Given the description of an element on the screen output the (x, y) to click on. 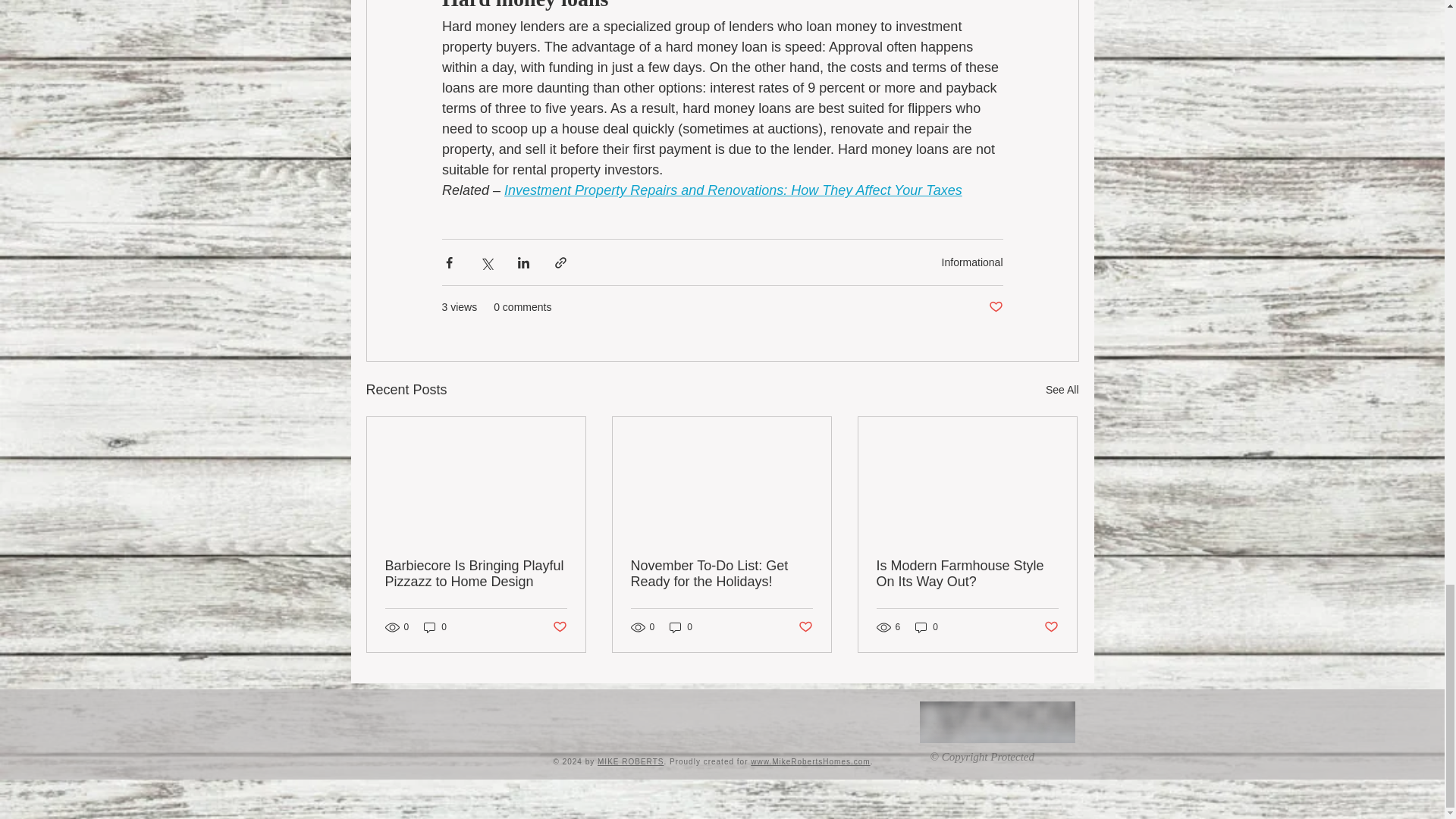
Barbiecore Is Bringing Playful Pizzazz to Home Design (476, 573)
Post not marked as liked (995, 307)
See All (1061, 390)
0 (435, 626)
Informational (972, 262)
Post not marked as liked (558, 627)
